Given the description of an element on the screen output the (x, y) to click on. 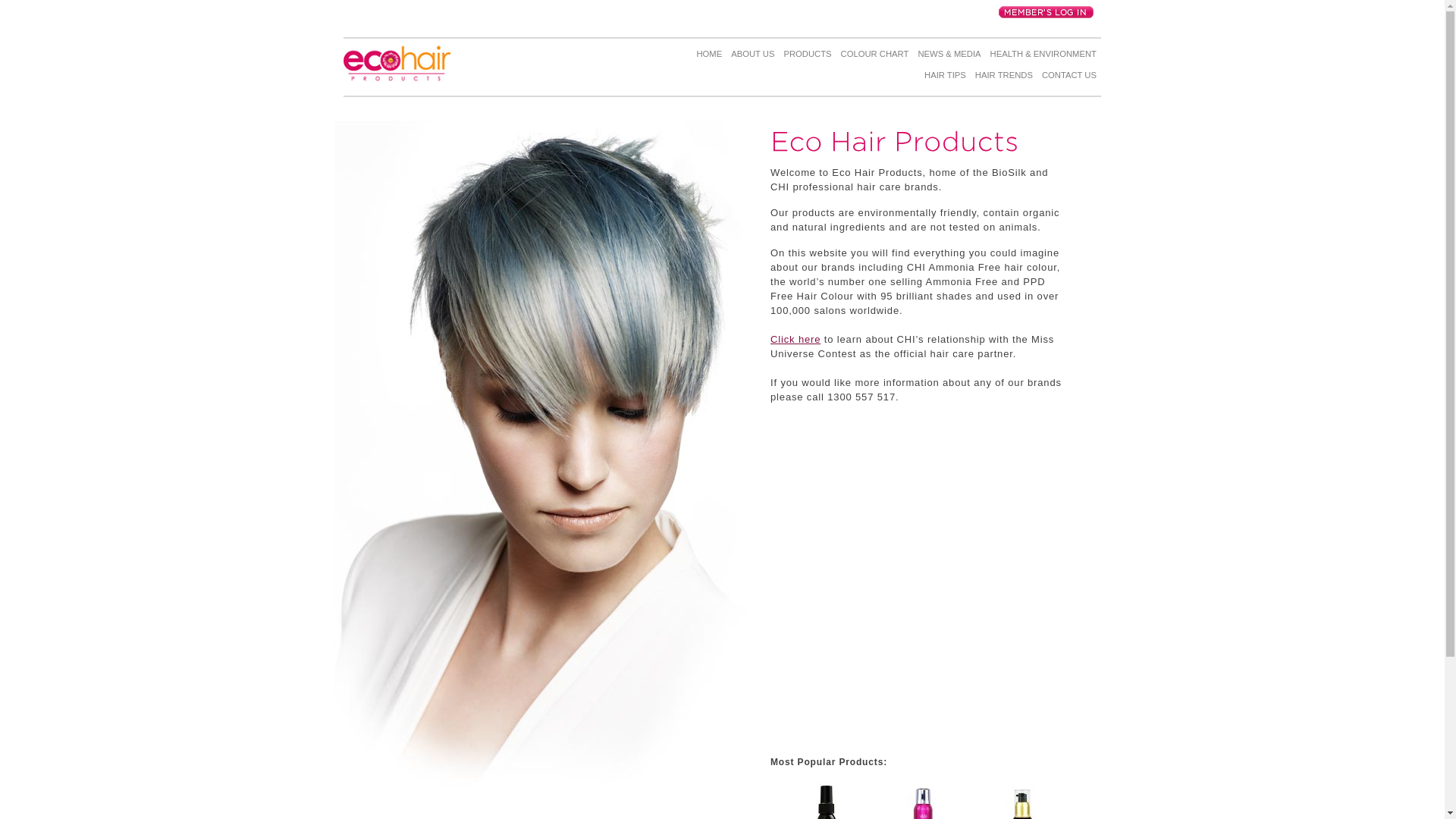
COLOUR CHART Element type: text (874, 56)
HOME Element type: text (708, 56)
Click here Element type: text (795, 339)
ABOUT US Element type: text (752, 56)
HEALTH & ENVIRONMENT Element type: text (1043, 56)
CONTACT US Element type: text (1069, 77)
PRODUCTS Element type: text (806, 56)
NEWS & MEDIA Element type: text (949, 56)
HAIR TIPS Element type: text (944, 77)
HAIR TRENDS Element type: text (1003, 77)
